Given the description of an element on the screen output the (x, y) to click on. 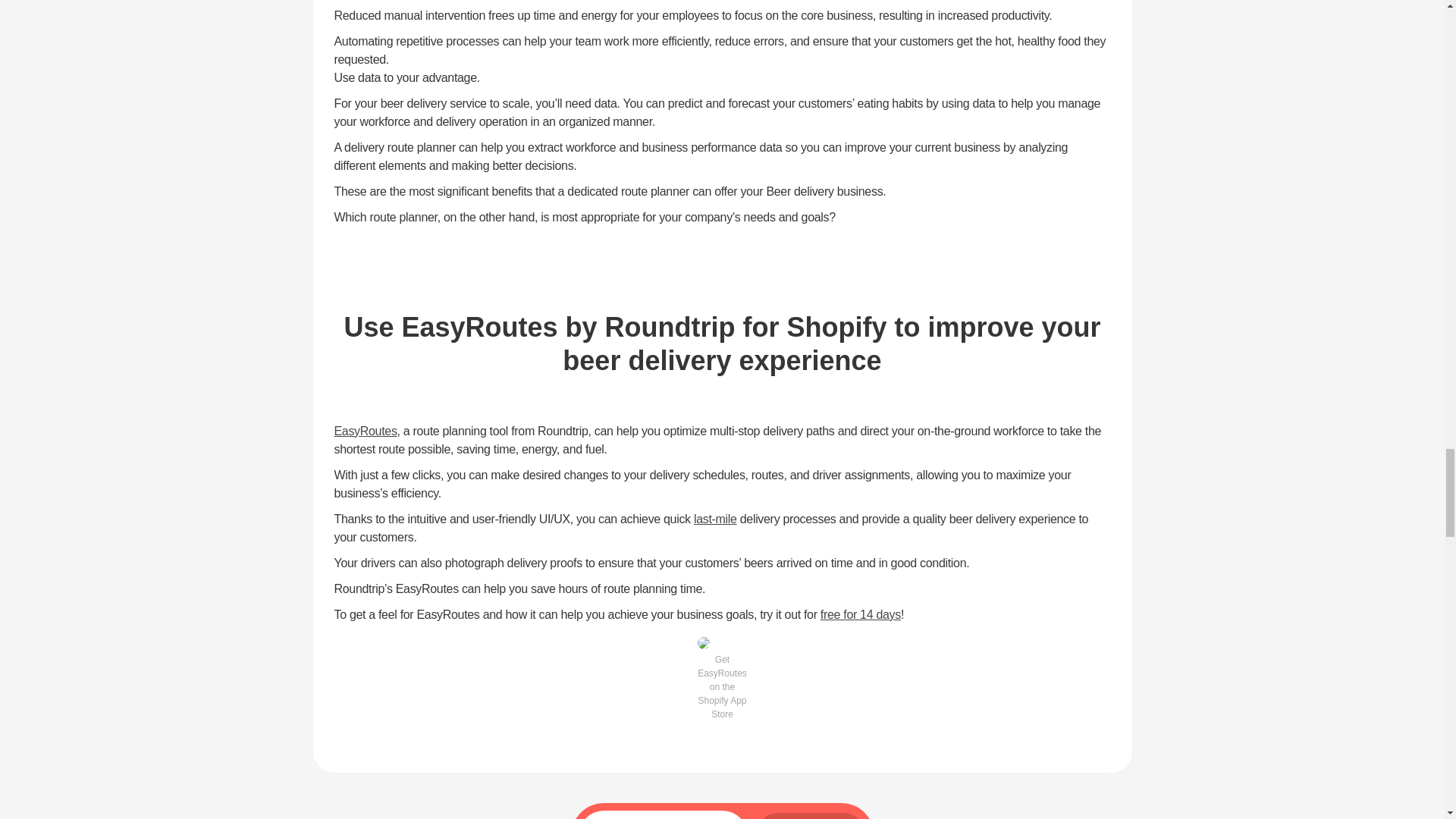
EasyRoutes (364, 431)
Take a tour (810, 816)
last-mile (715, 518)
free for 14 days (861, 614)
